Given the description of an element on the screen output the (x, y) to click on. 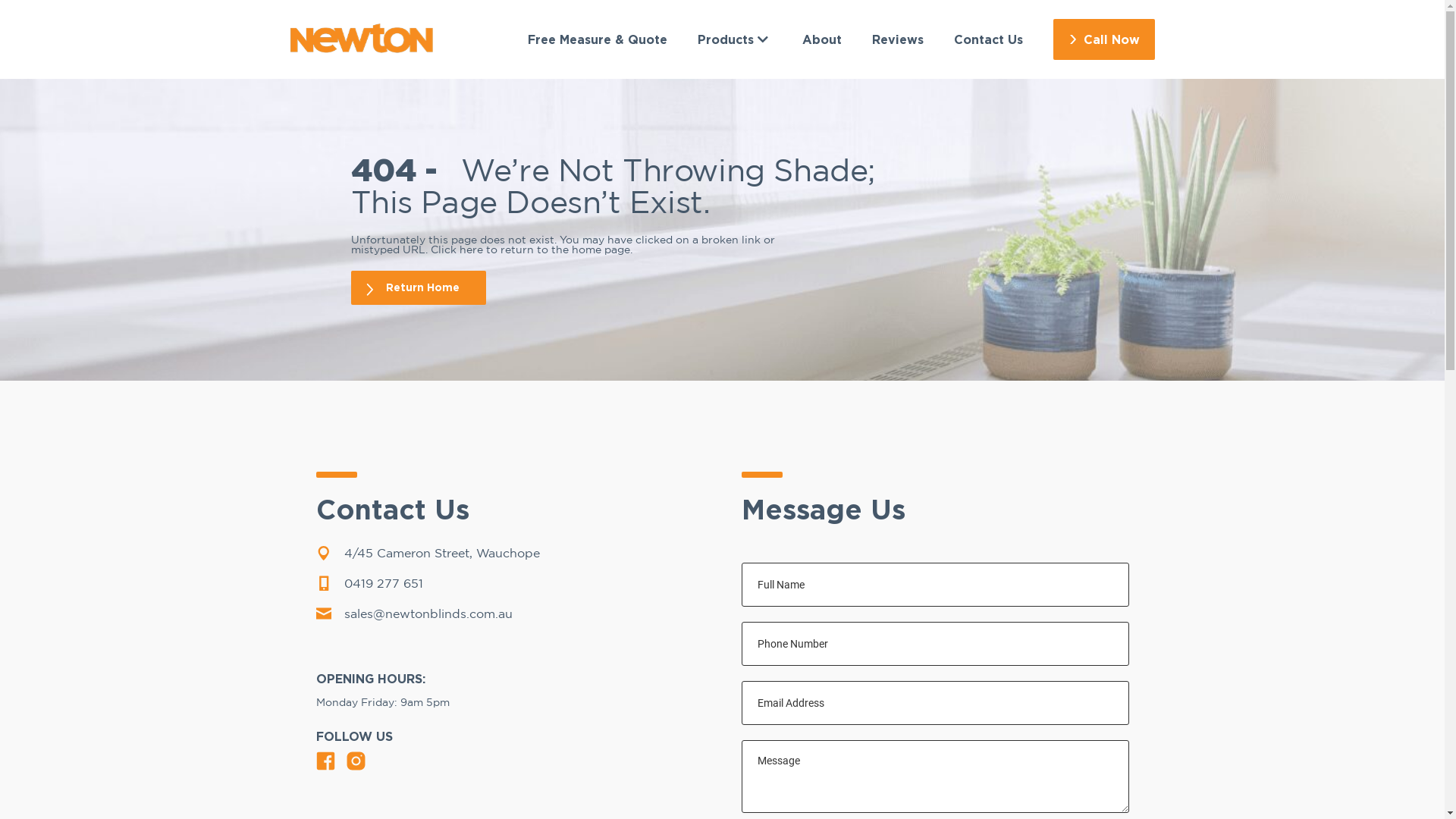
sales@newtonblinds.com.au Element type: text (508, 613)
Contact Us Element type: text (987, 38)
Free Measure & Quote Element type: text (597, 38)
Return Home Element type: text (417, 287)
Call Now Element type: text (1103, 38)
0419 277 651 Element type: text (508, 583)
4/45 Cameron Street, Wauchope Element type: text (508, 552)
Products Element type: text (734, 38)
About Element type: text (821, 38)
Reviews Element type: text (897, 38)
